Given the description of an element on the screen output the (x, y) to click on. 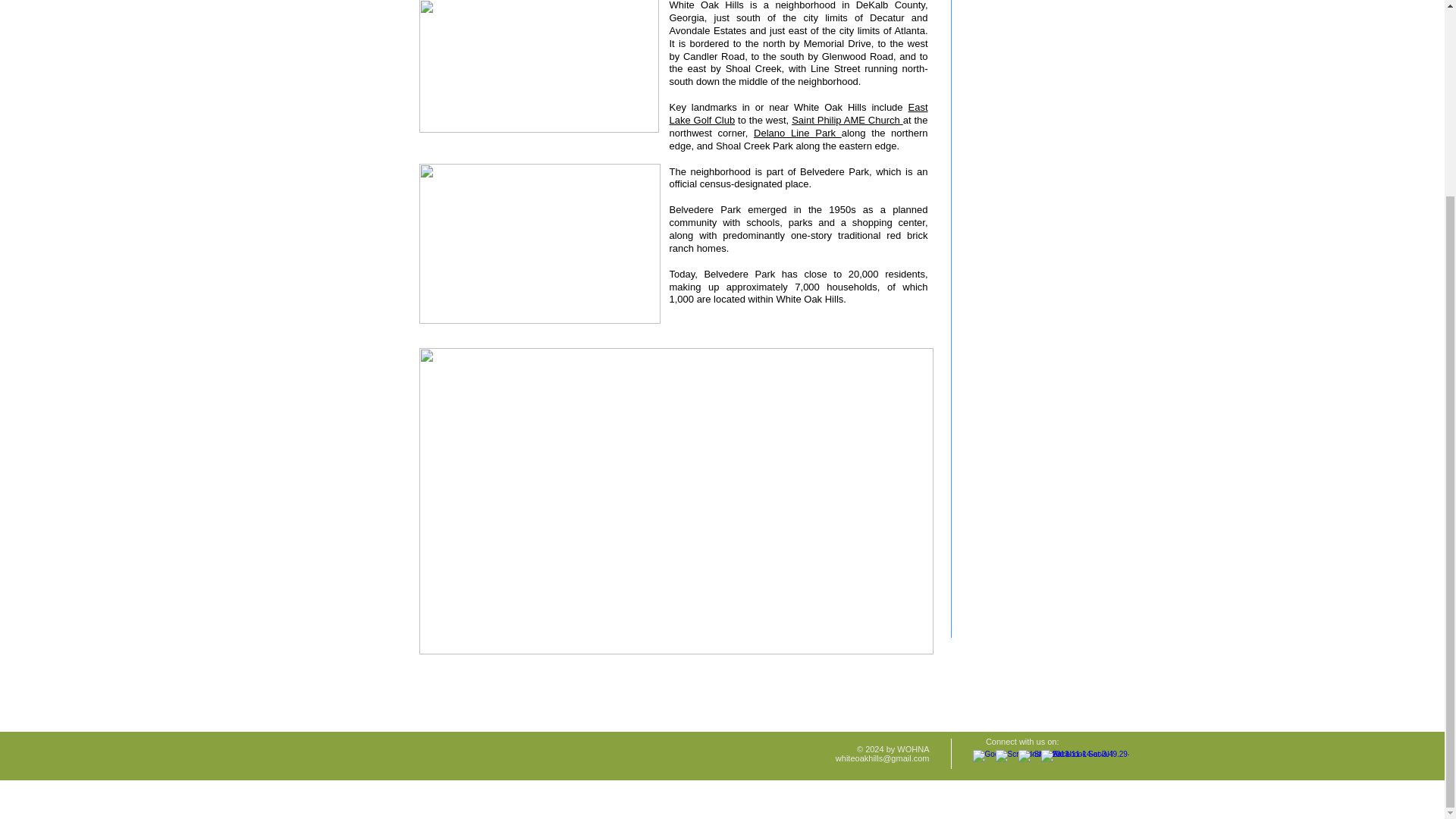
Saint Philip AME Church (847, 120)
Delano Line Park (797, 132)
East Lake Golf Club (797, 113)
